Given the description of an element on the screen output the (x, y) to click on. 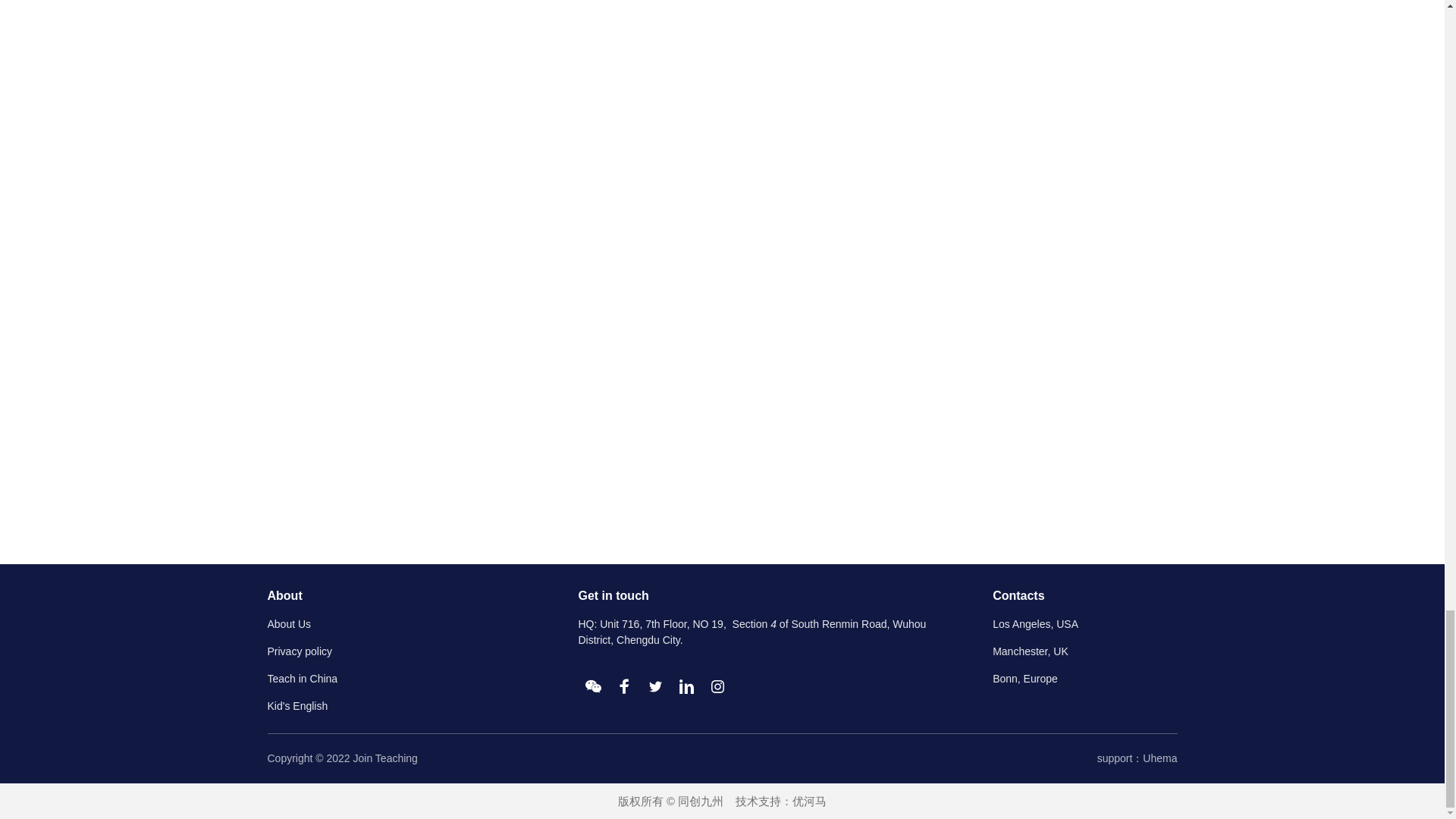
Instagram (717, 685)
Linkedin (686, 685)
Twitter (655, 685)
Wechat (593, 685)
Facebook (624, 685)
